Given the description of an element on the screen output the (x, y) to click on. 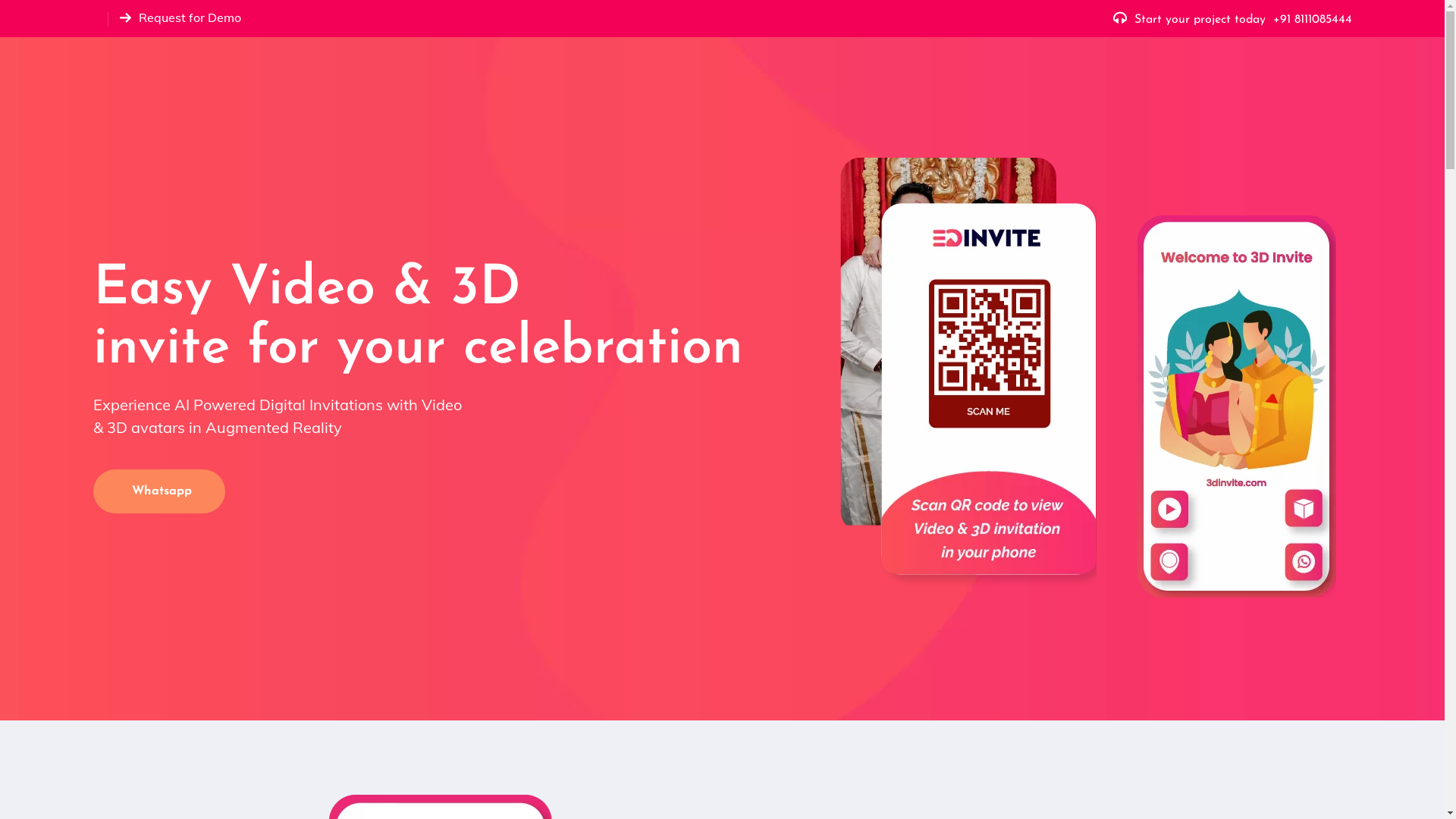
Request for Demo Element type: text (189, 18)
+91 8111085444 Element type: text (1311, 19)
Whatsapp Element type: text (158, 491)
